Given the description of an element on the screen output the (x, y) to click on. 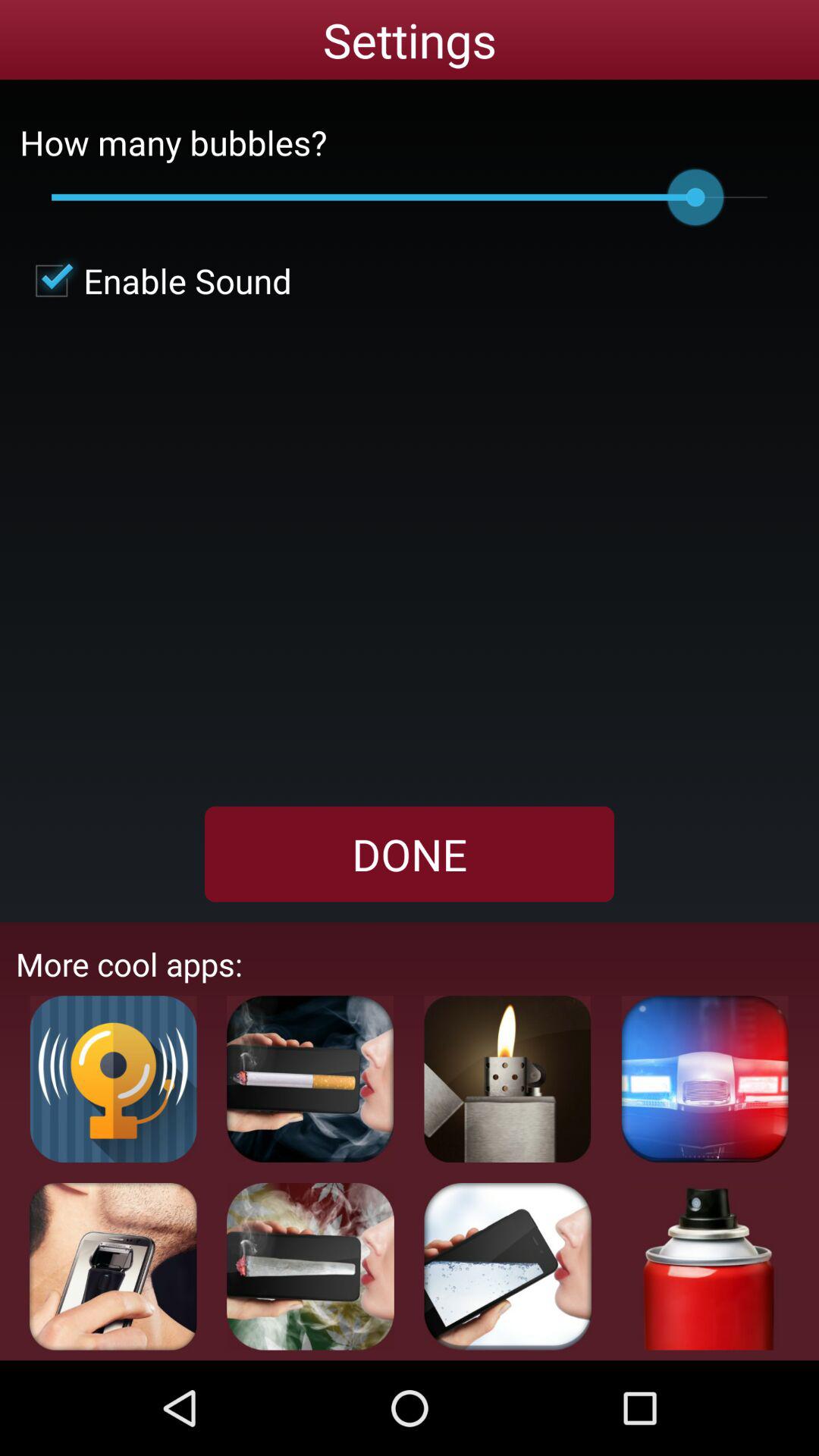
turn off app above more cool apps: app (409, 854)
